Given the description of an element on the screen output the (x, y) to click on. 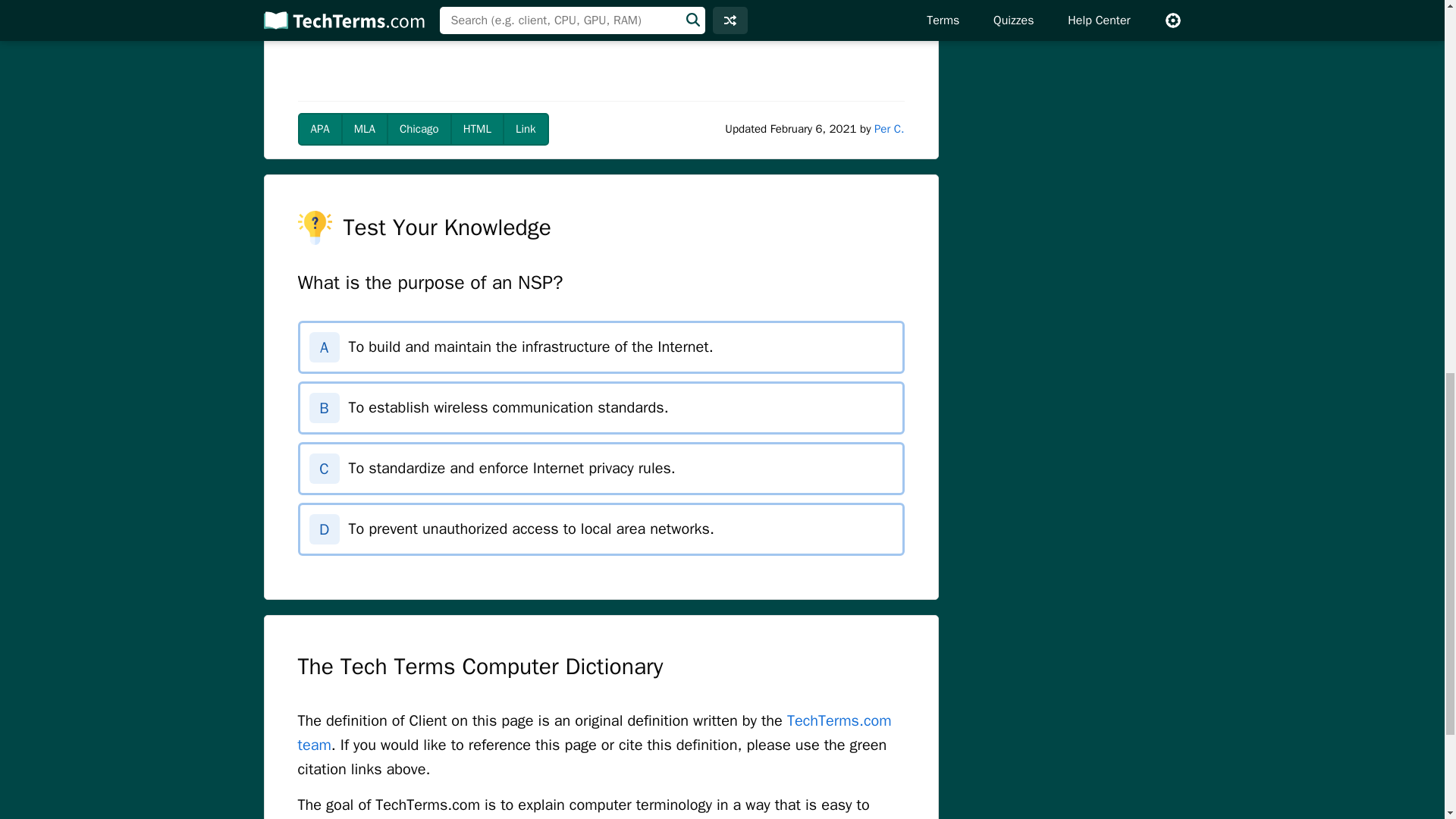
HTML (475, 129)
3rd party ad content (600, 47)
APA (319, 129)
Chicago (418, 129)
Link (524, 129)
MLA (363, 129)
Per C. (889, 129)
